Given the description of an element on the screen output the (x, y) to click on. 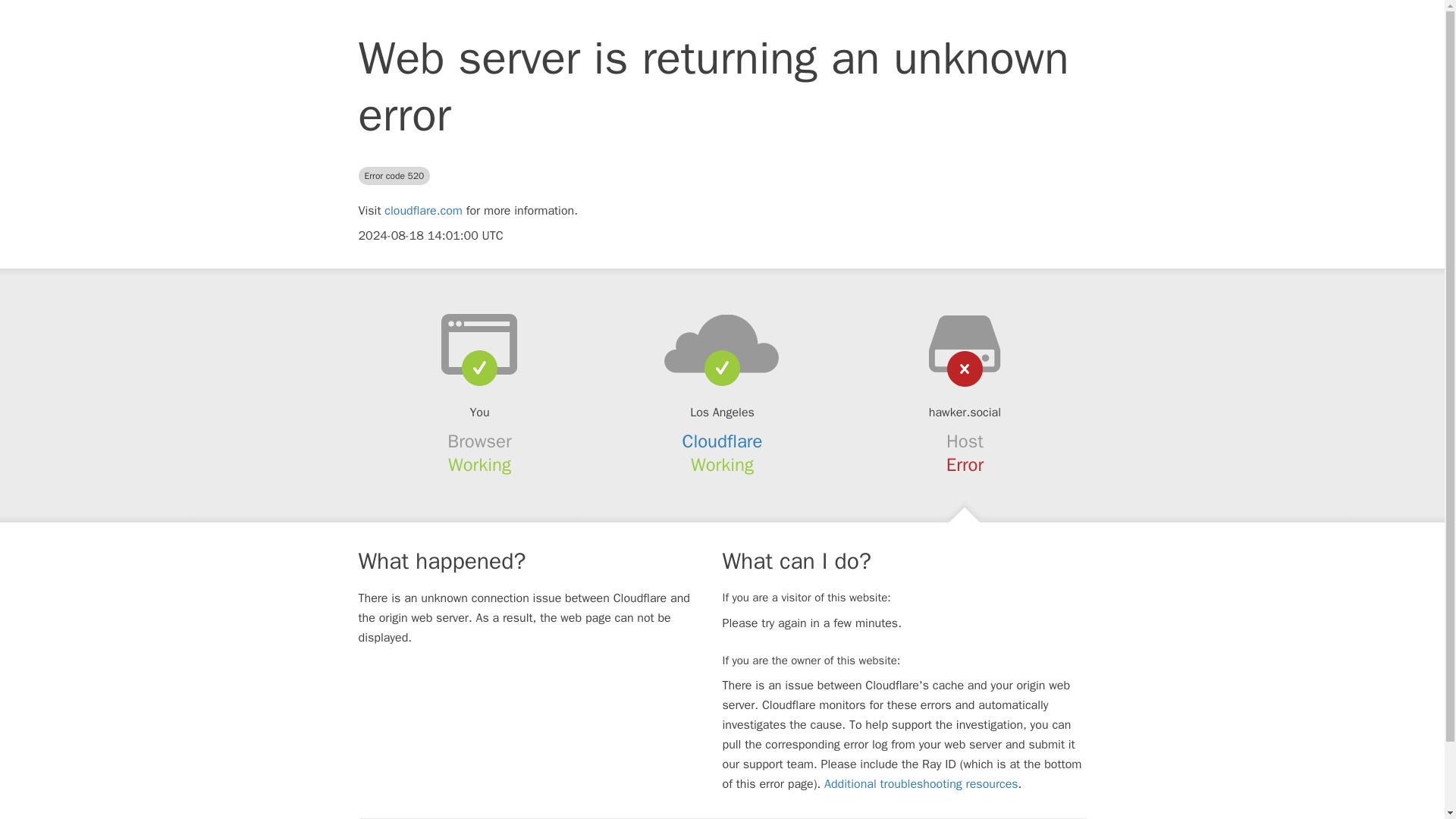
cloudflare.com (423, 210)
Cloudflare (722, 440)
Additional troubleshooting resources (920, 783)
